Given the description of an element on the screen output the (x, y) to click on. 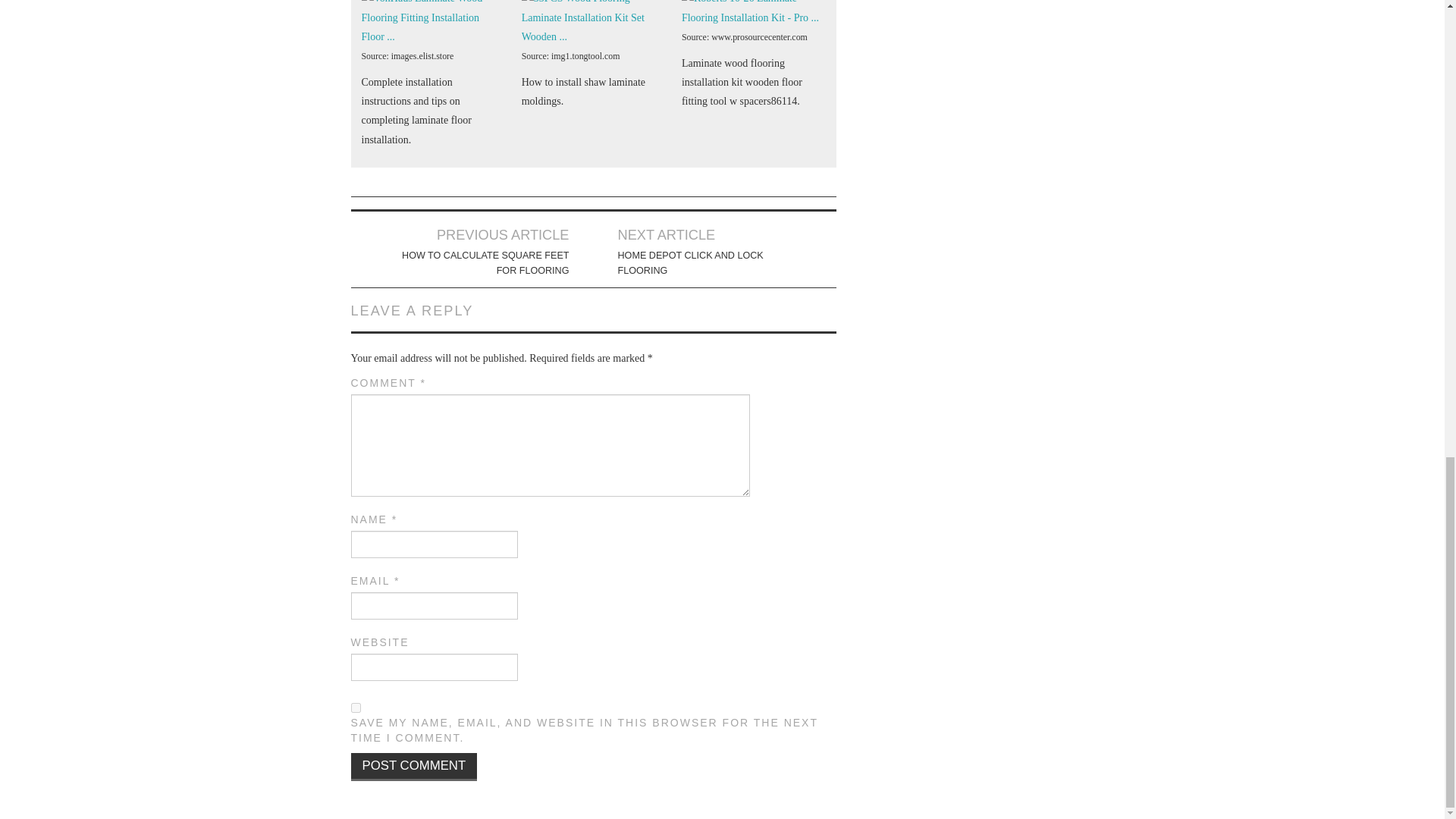
Post Comment (413, 766)
HOME DEPOT CLICK AND LOCK FLOORING (702, 263)
HOW TO CALCULATE SQUARE FEET FOR FLOORING (483, 263)
Post Comment (413, 766)
yes (354, 707)
